Given the description of an element on the screen output the (x, y) to click on. 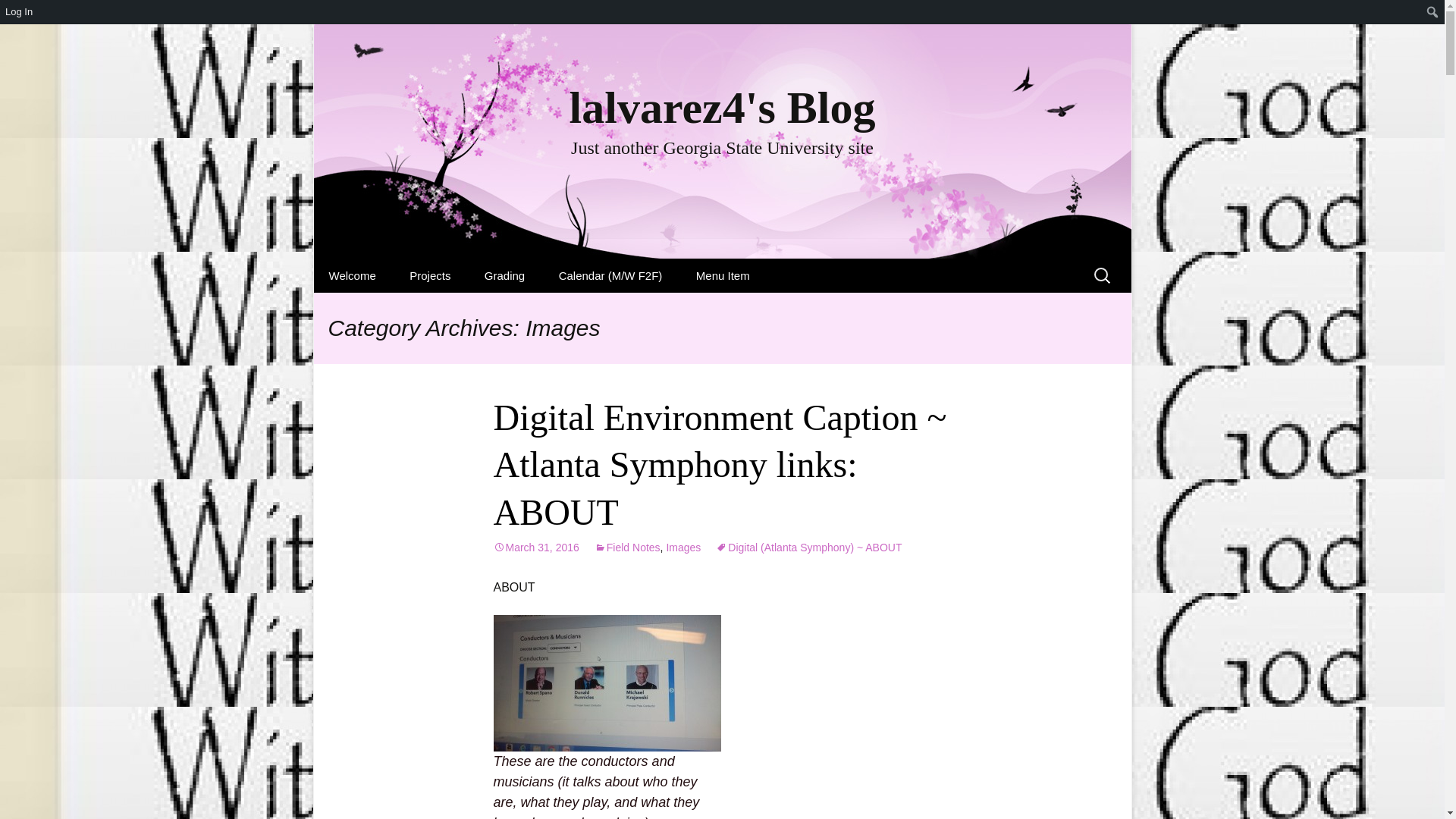
Projects (429, 275)
Log In (19, 12)
Search (18, 15)
Menu Item (723, 275)
March 31, 2016 (535, 547)
Images (352, 275)
Skip to content (682, 547)
Grading (627, 547)
